Given the description of an element on the screen output the (x, y) to click on. 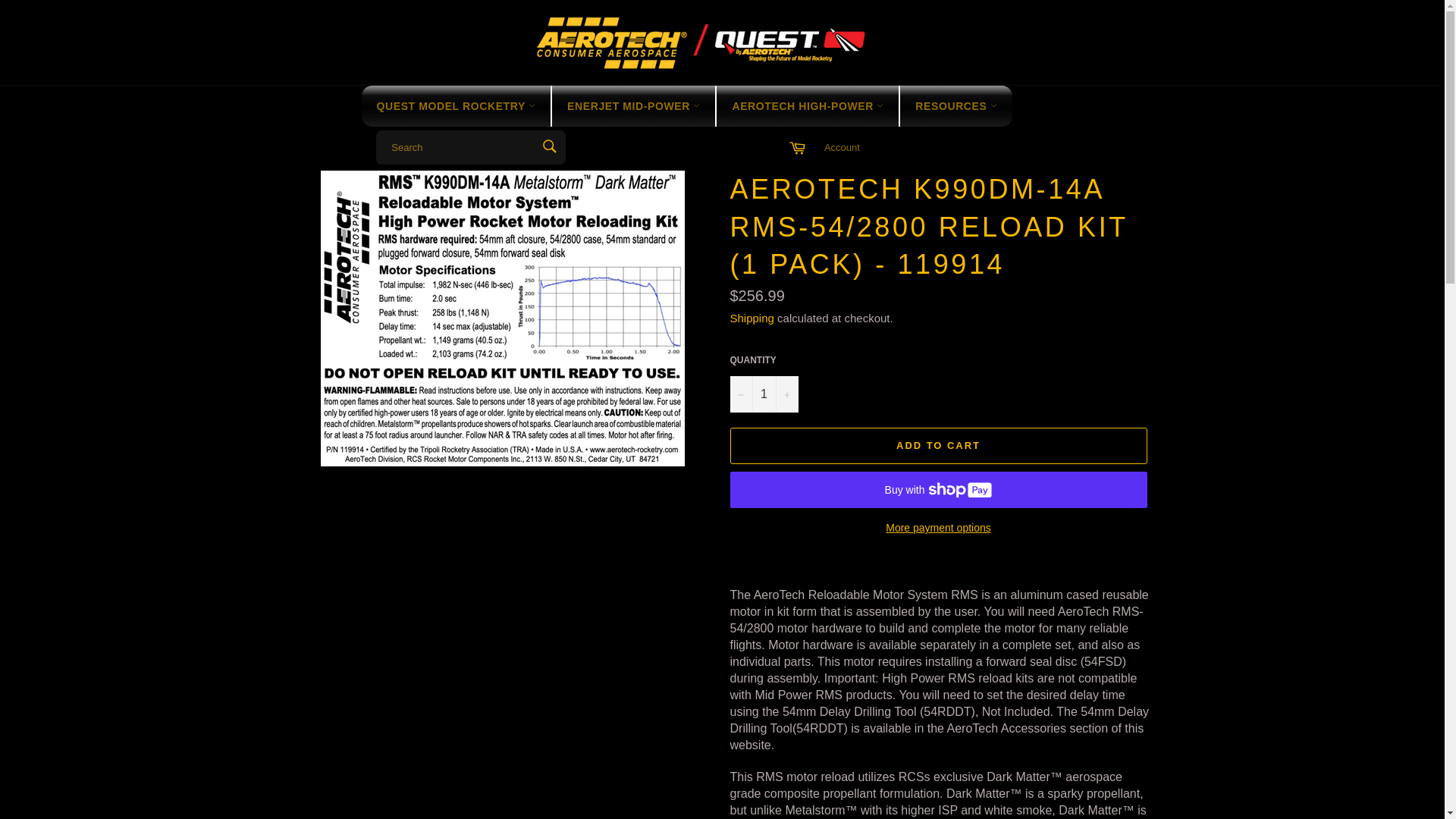
1 (763, 393)
